Given the description of an element on the screen output the (x, y) to click on. 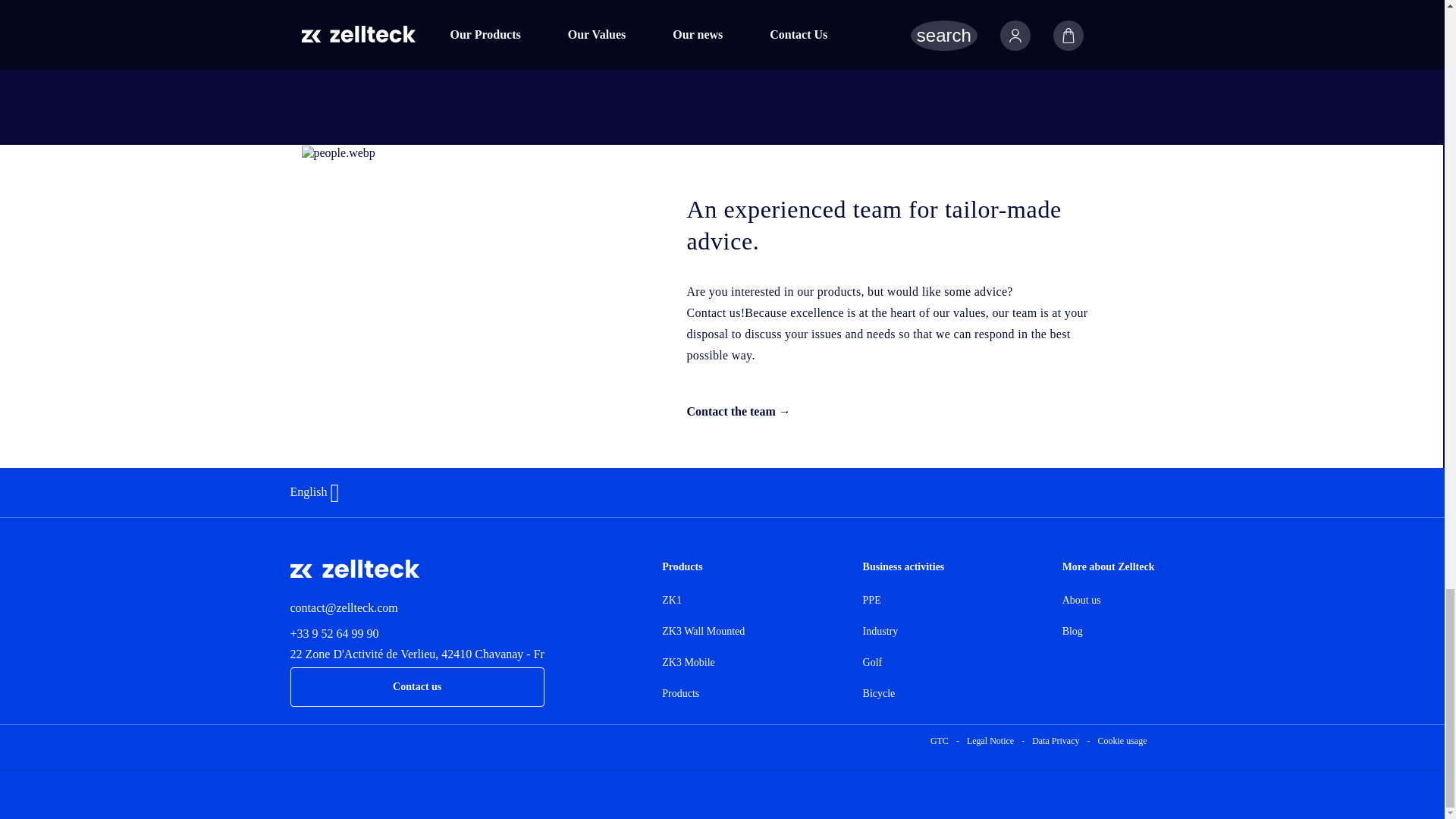
Products (703, 693)
Data Privacy (1055, 740)
Industry (903, 631)
Legal Notice (989, 740)
ZK3 Wall Mounted (703, 631)
Bicycle (903, 693)
ZK3 Mobile (703, 662)
Contact us (416, 686)
Golf (903, 662)
PPE (903, 600)
GTC (939, 740)
ZK1 (703, 600)
About us (1108, 600)
Cookie usage (1122, 740)
Blog (1108, 631)
